Given the description of an element on the screen output the (x, y) to click on. 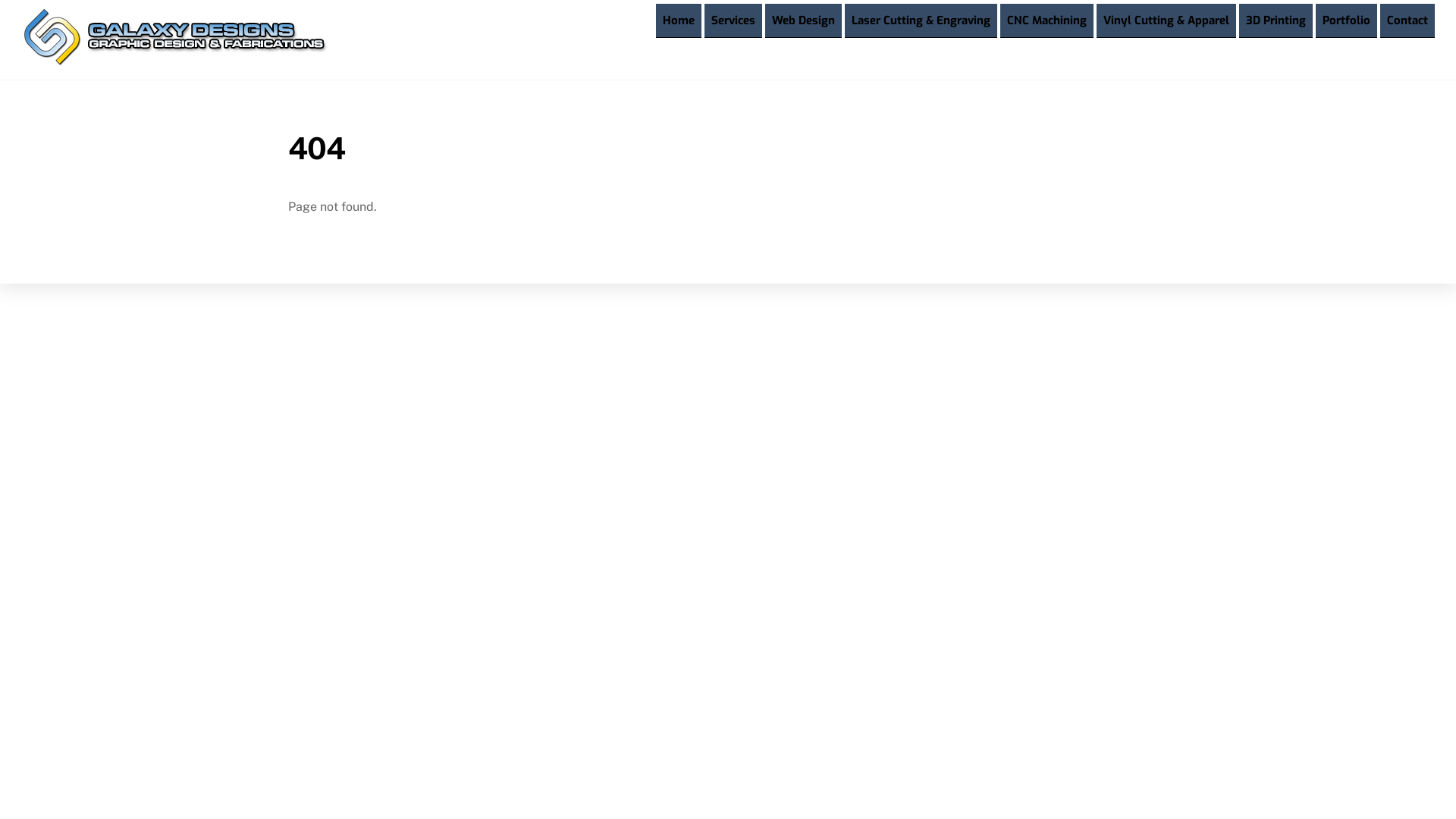
Home Element type: text (678, 20)
Galaxy Designs Element type: hover (174, 59)
CNC Machining Element type: text (1046, 20)
Laser Cutting & Engraving Element type: text (920, 20)
GD-Title Element type: hover (174, 36)
Web Design Element type: text (803, 20)
Vinyl Cutting & Apparel Element type: text (1166, 20)
Services Element type: text (733, 20)
Contact Element type: text (1407, 20)
Portfolio Element type: text (1346, 20)
3D Printing Element type: text (1275, 20)
